Given the description of an element on the screen output the (x, y) to click on. 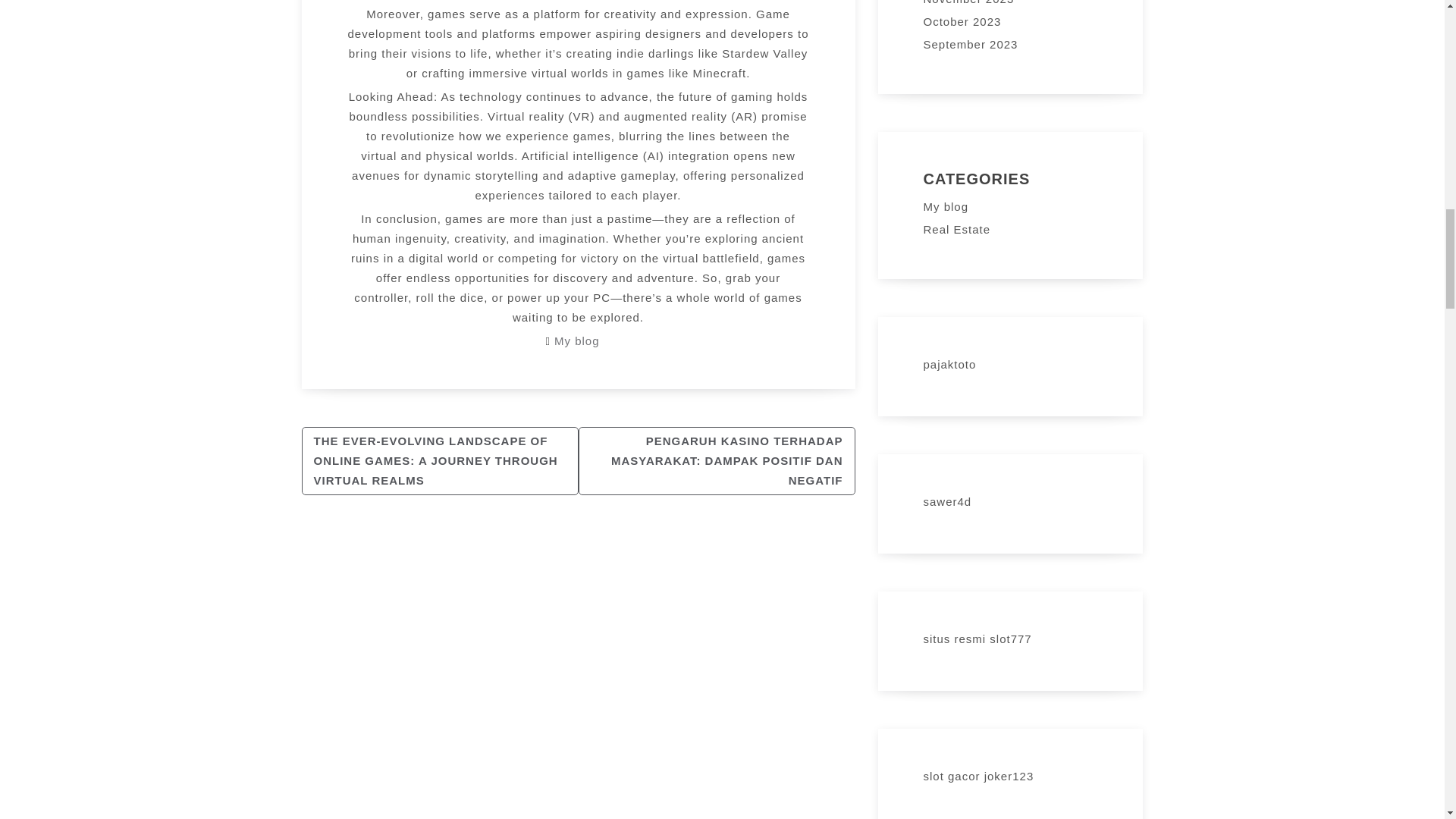
November 2023 (968, 2)
September 2023 (970, 43)
sawer4d (947, 501)
Real Estate (957, 228)
My blog (576, 339)
pajaktoto (949, 364)
October 2023 (962, 21)
situs resmi slot777 (977, 638)
